Given the description of an element on the screen output the (x, y) to click on. 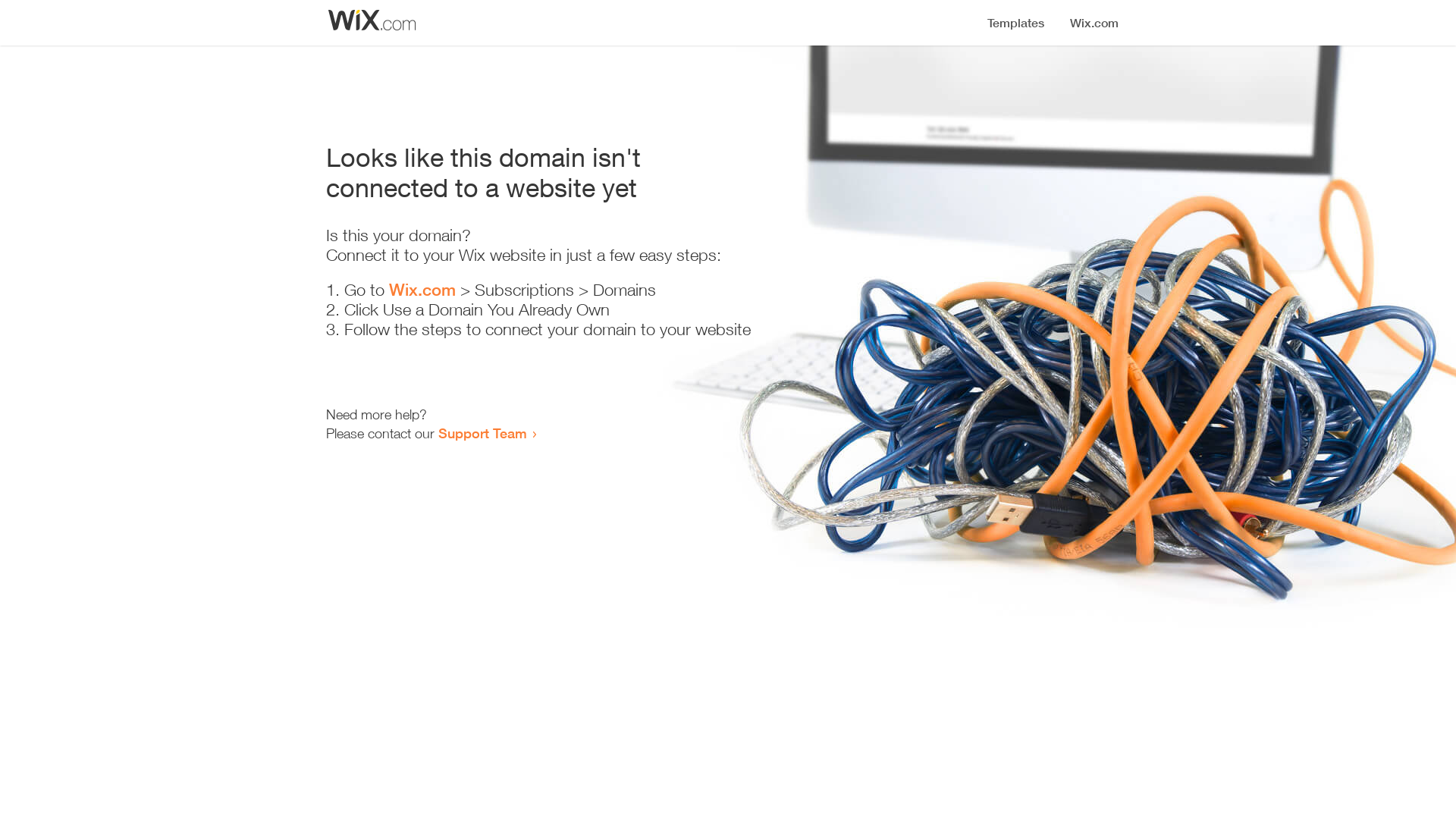
Wix.com Element type: text (422, 289)
Support Team Element type: text (482, 432)
